Given the description of an element on the screen output the (x, y) to click on. 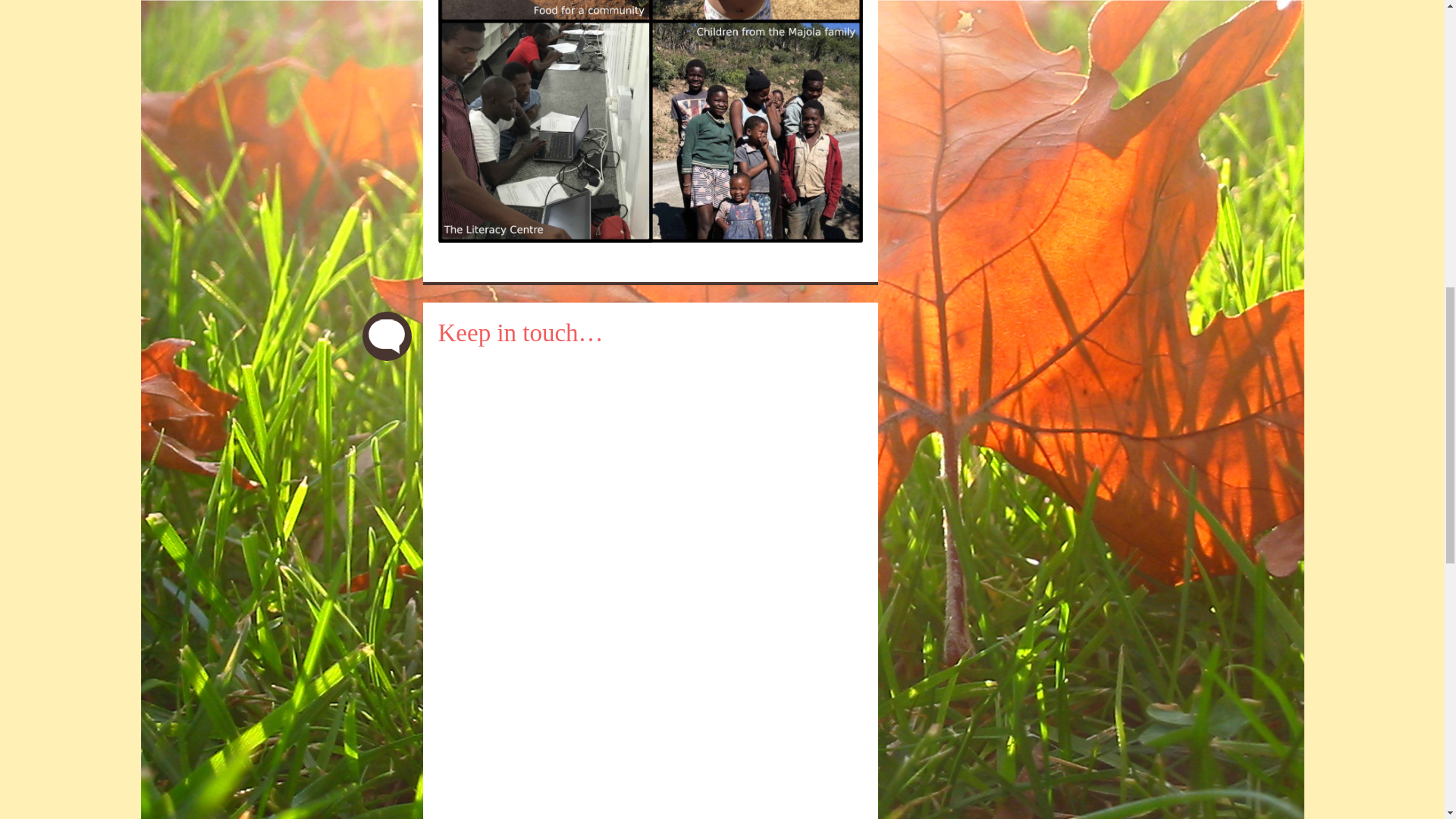
All Chat posts (387, 336)
Chat (387, 336)
